Given the description of an element on the screen output the (x, y) to click on. 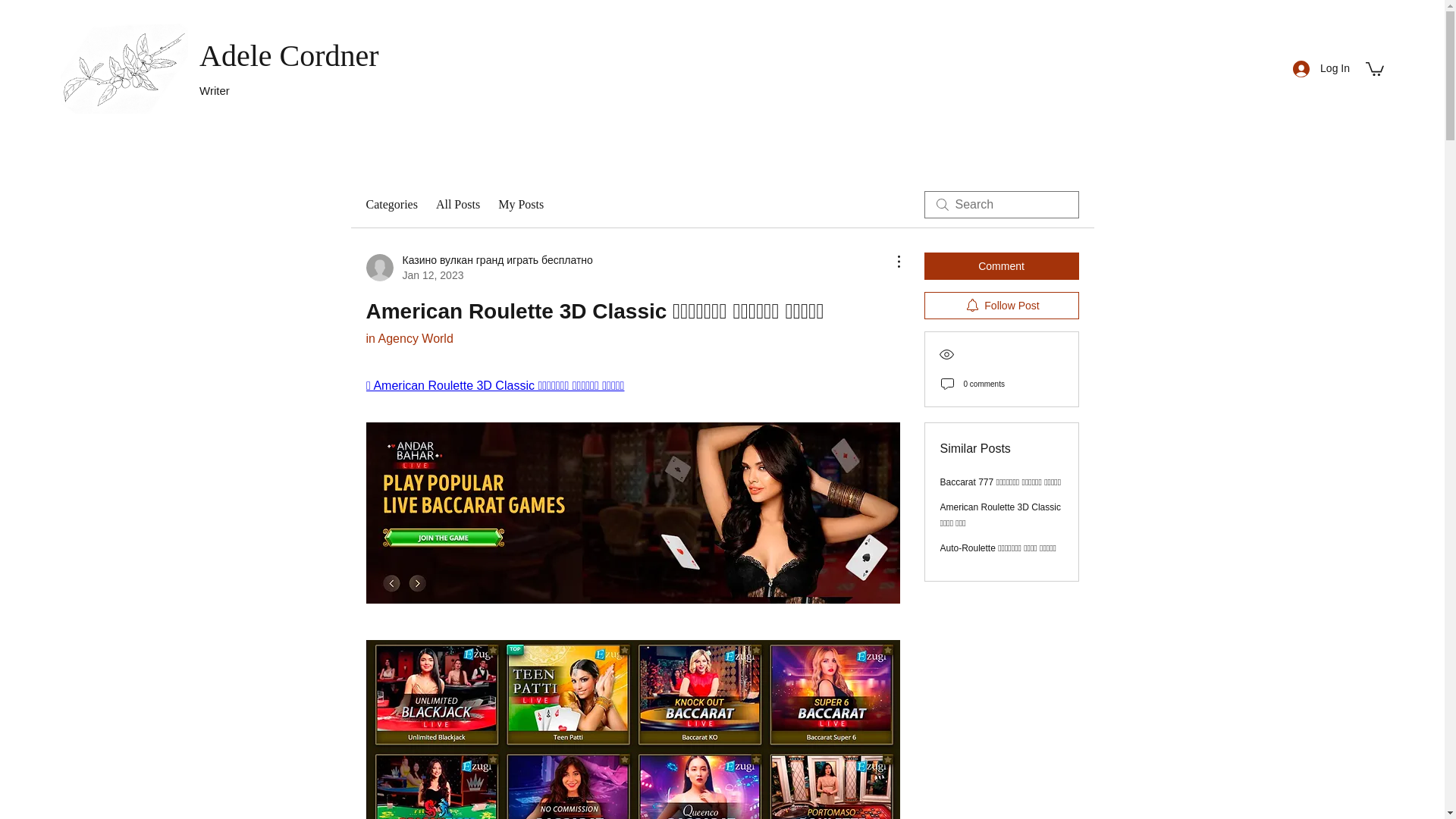
All Posts (457, 204)
My Posts (520, 204)
Comment (1000, 266)
Follow Post (1000, 305)
in Agency World (408, 338)
Log In (1320, 68)
Categories (390, 204)
